Given the description of an element on the screen output the (x, y) to click on. 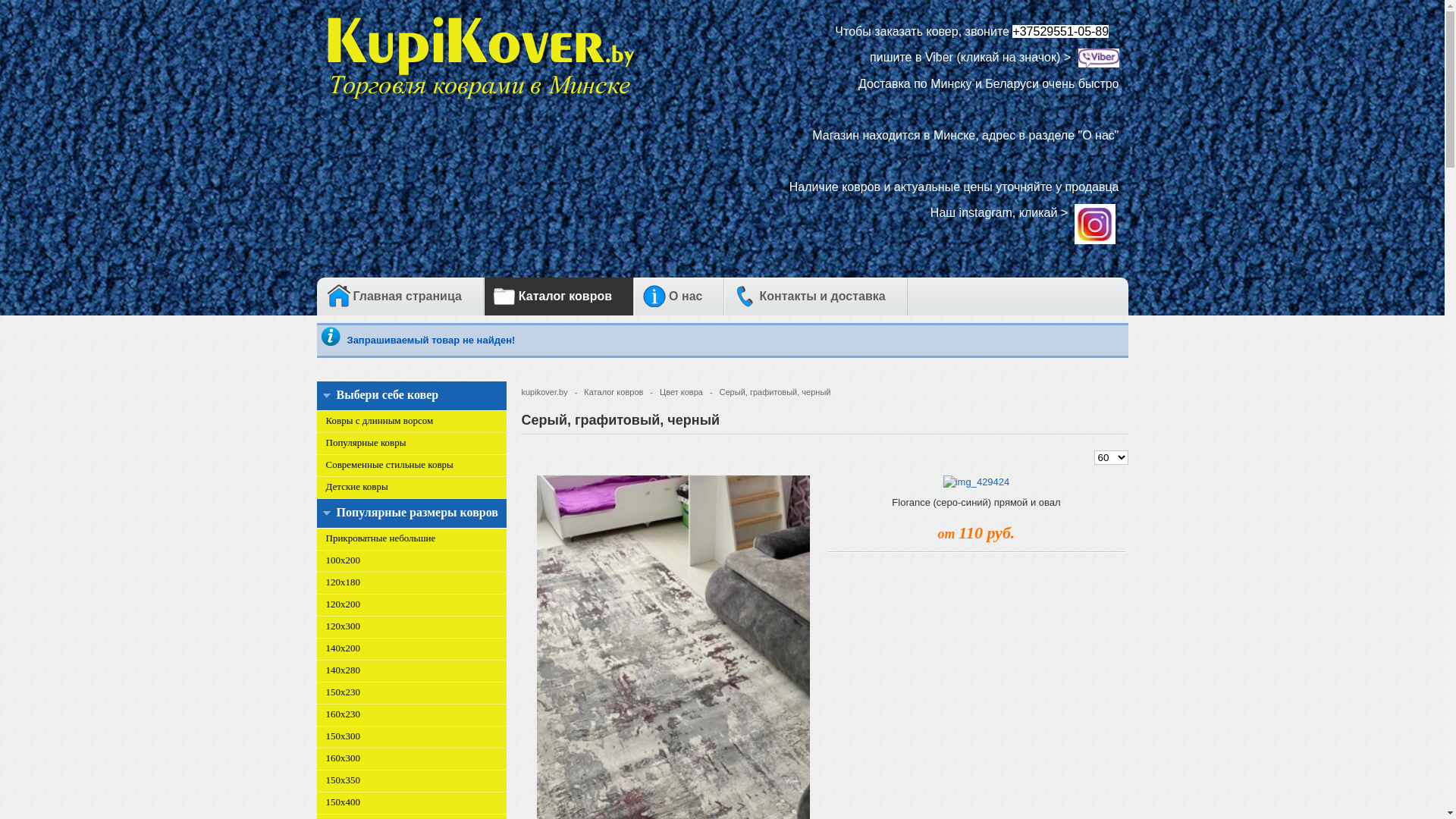
instagram Element type: hover (1094, 212)
kupikover.by Element type: text (547, 390)
150x230 Element type: text (343, 690)
150x300 Element type: text (343, 734)
150x350 Element type: text (343, 778)
